Given the description of an element on the screen output the (x, y) to click on. 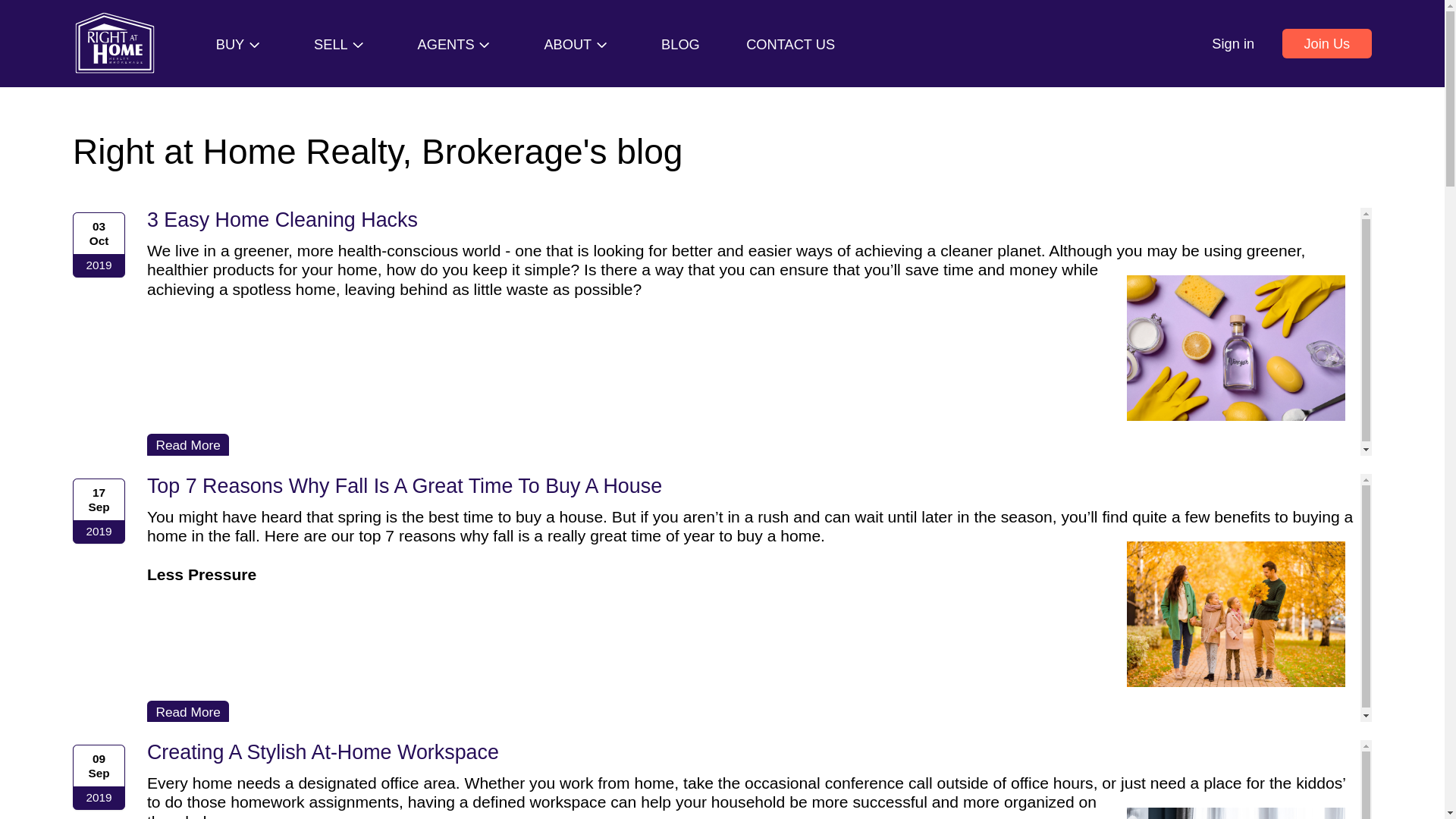
Buy (241, 44)
BLOG (680, 44)
AGENTS (457, 44)
ABOUT (578, 44)
Sell (342, 44)
CONTACT US (789, 44)
SELL (342, 44)
BUY (241, 44)
